Given the description of an element on the screen output the (x, y) to click on. 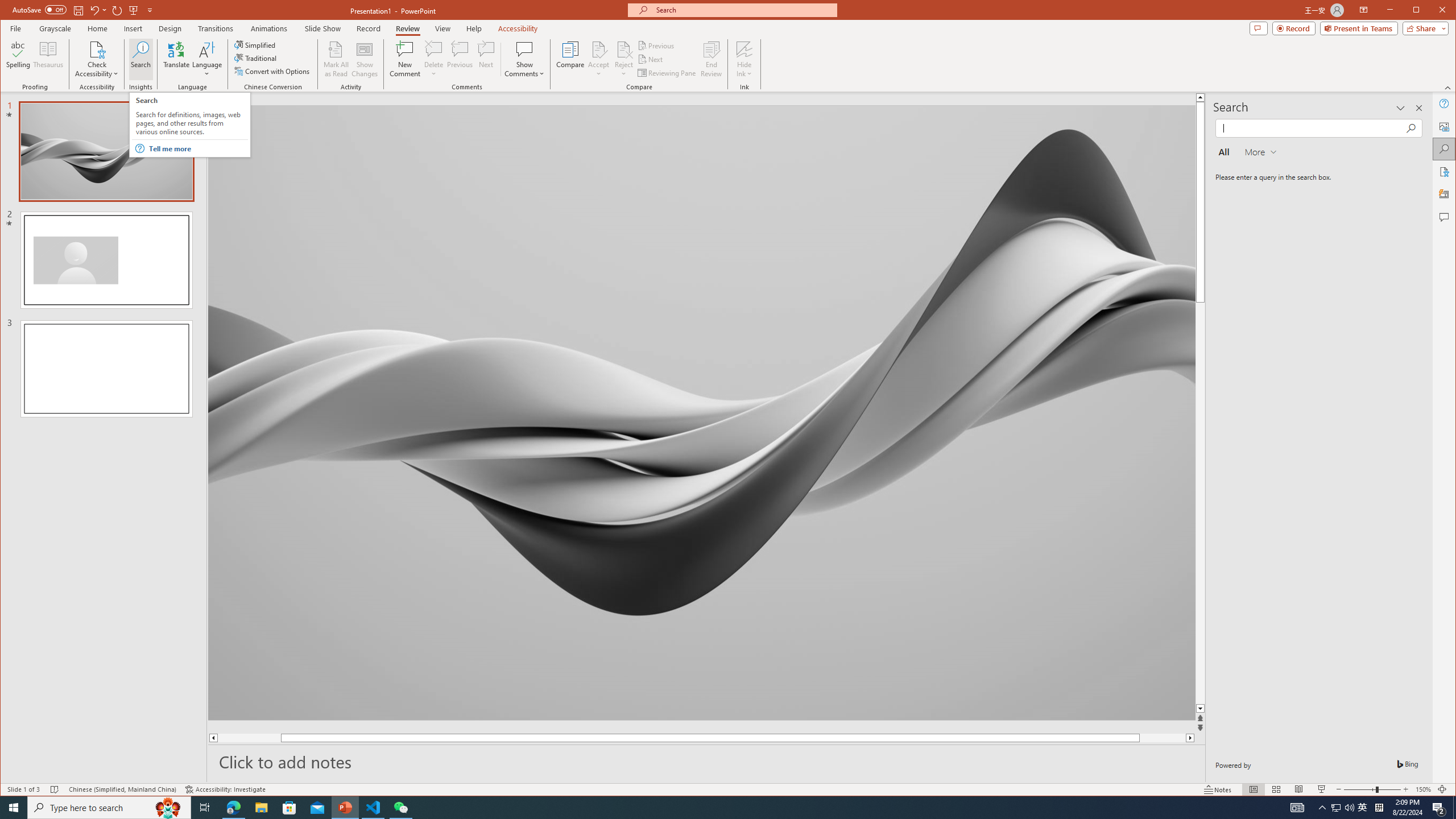
Search highlights icon opens search home window (167, 807)
Tray Input Indicator - Chinese (Simplified, China) (1378, 807)
Previous (657, 45)
Task View (204, 807)
